Given the description of an element on the screen output the (x, y) to click on. 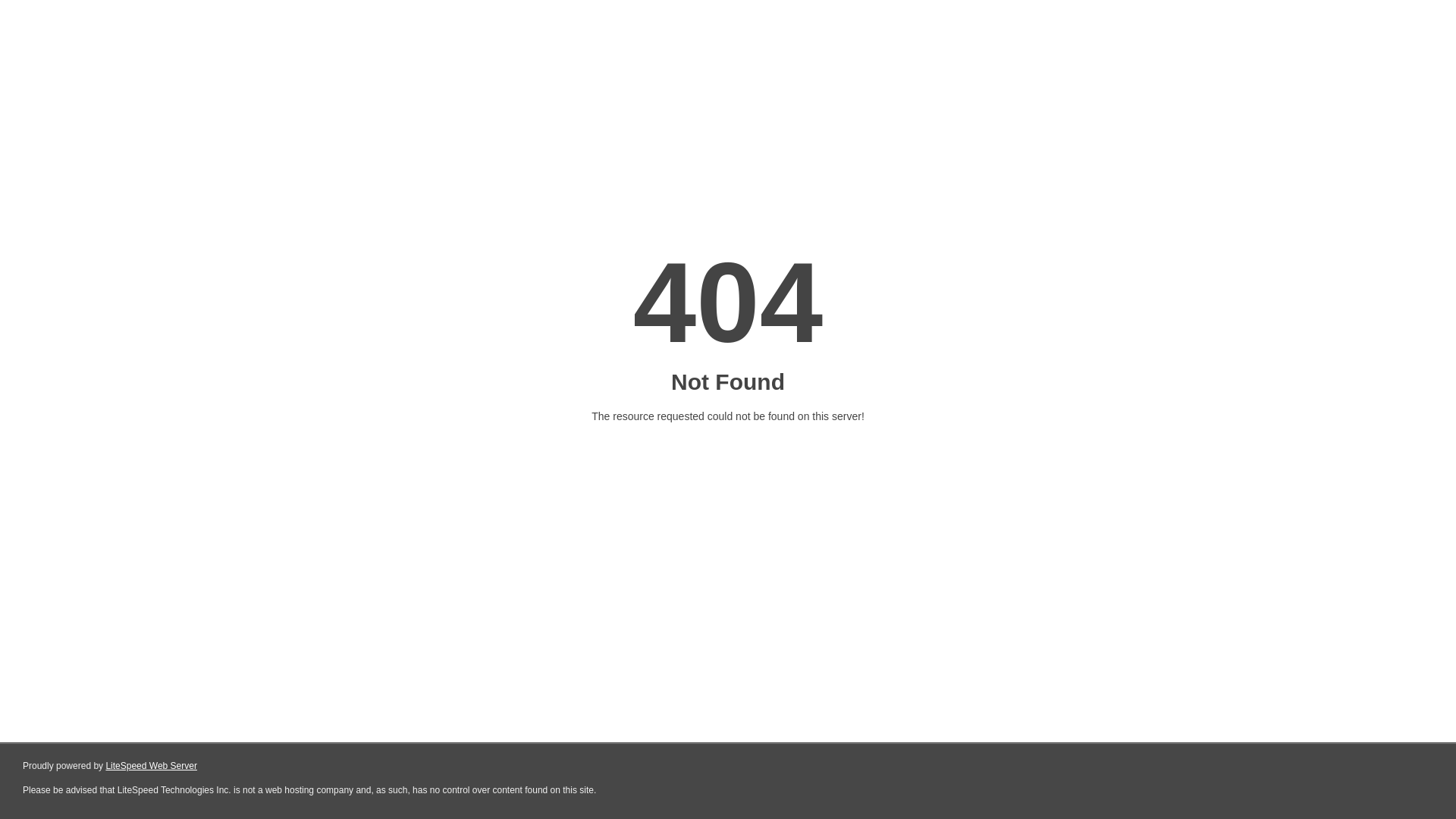
LiteSpeed Web Server Element type: text (151, 765)
